Given the description of an element on the screen output the (x, y) to click on. 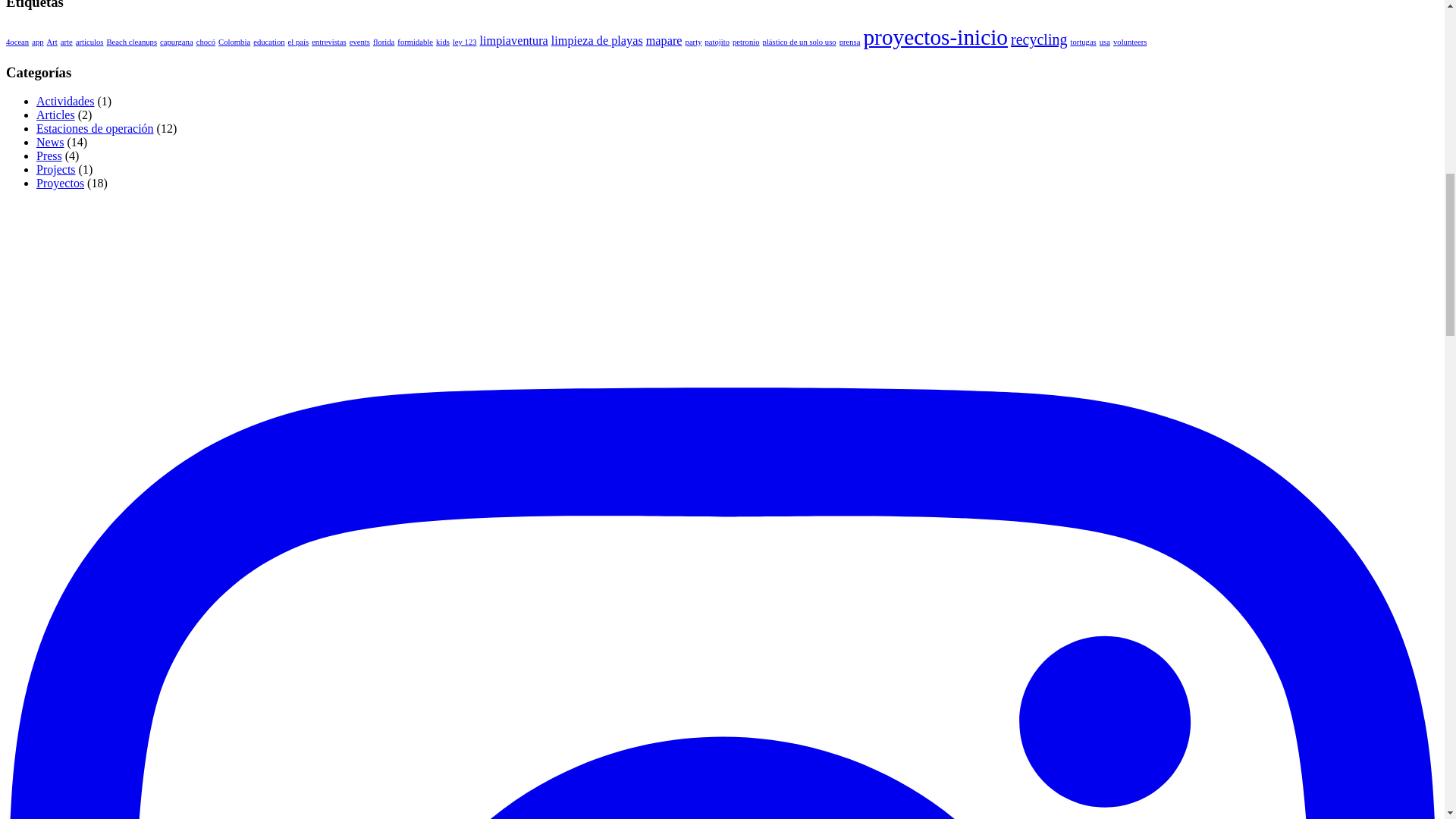
articulos (89, 41)
events (359, 41)
florida (383, 41)
arte (66, 41)
capurgana (176, 41)
app (37, 41)
Art (52, 41)
Colombia (234, 41)
entrevistas (328, 41)
Beach cleanups (131, 41)
education (268, 41)
4ocean (17, 41)
